Given the description of an element on the screen output the (x, y) to click on. 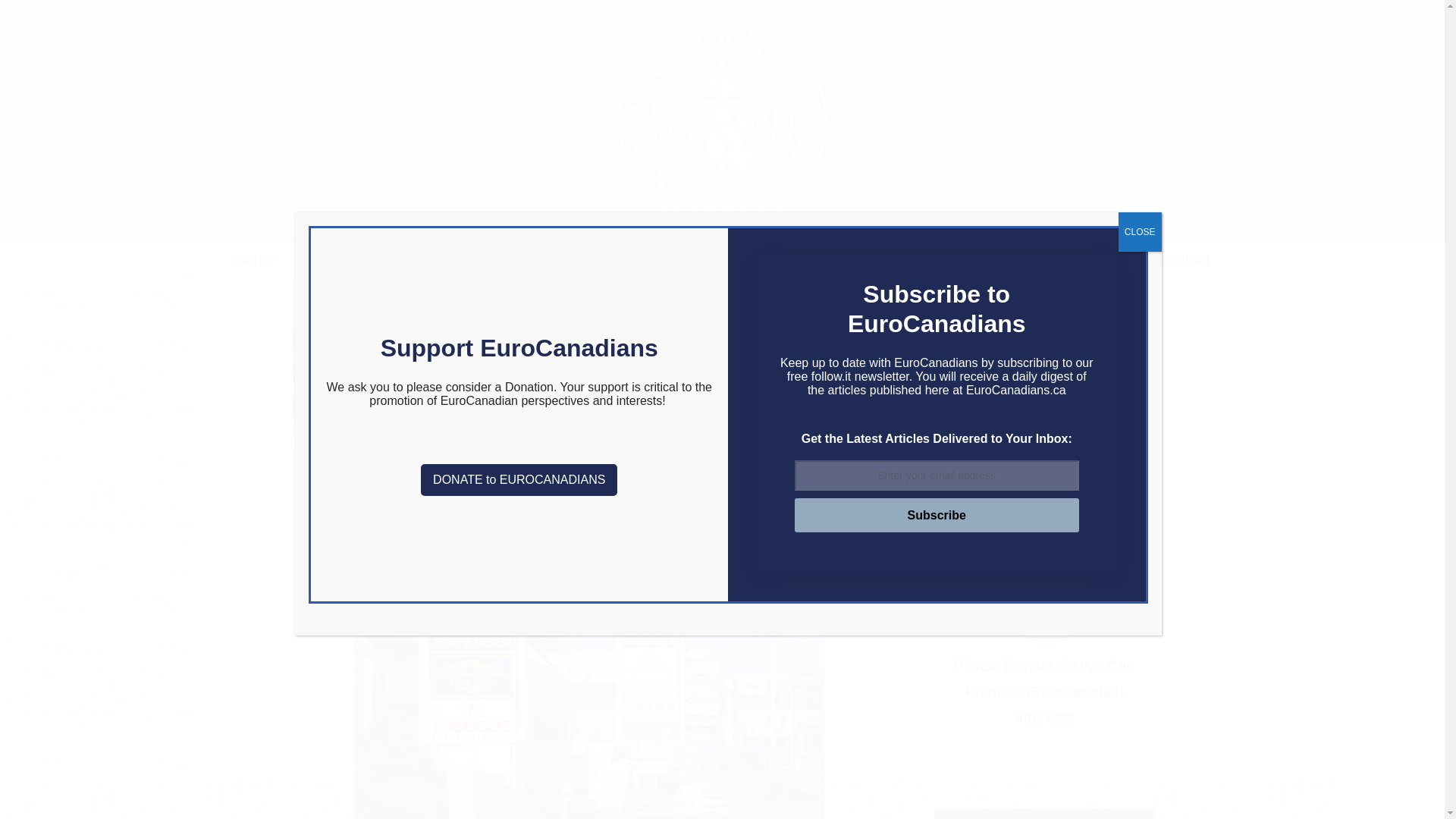
Western Civilization (1019, 258)
Posts by Ricardo Duchesne (364, 443)
Skip to content (11, 31)
Articles (381, 258)
Community Activism (726, 258)
Contact (1183, 258)
About (316, 258)
Council of European Canadians (721, 119)
Home (254, 258)
Ricardo Duchesne (364, 443)
Gab (1122, 258)
Subscribe (936, 515)
Visit our Gab feed (1022, 339)
Canadian History (873, 258)
